Given the description of an element on the screen output the (x, y) to click on. 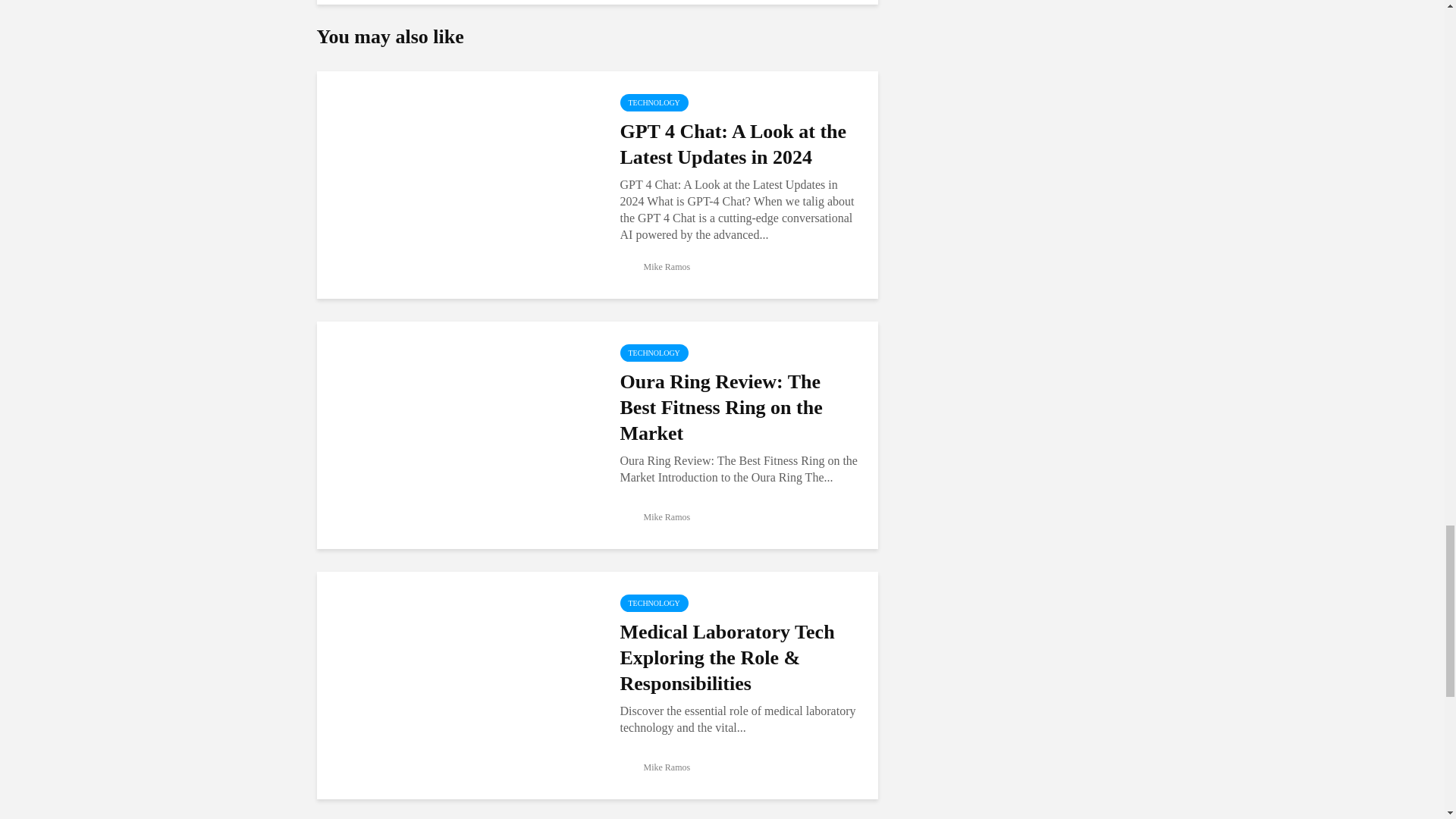
Mike Ramos (655, 266)
Oura Ring Review: The Best Fitness Ring on the Market (740, 407)
Oura Ring Review: The Best Fitness Ring on the Market (456, 433)
Mike Ramos (655, 516)
GPT 4 Chat: A Look at the Latest Updates in 2024 (456, 183)
TECHNOLOGY (654, 352)
Mike Ramos (655, 767)
TECHNOLOGY (654, 102)
GPT 4 Chat: A Look at the Latest Updates in 2024 (740, 144)
TECHNOLOGY (654, 602)
